Given the description of an element on the screen output the (x, y) to click on. 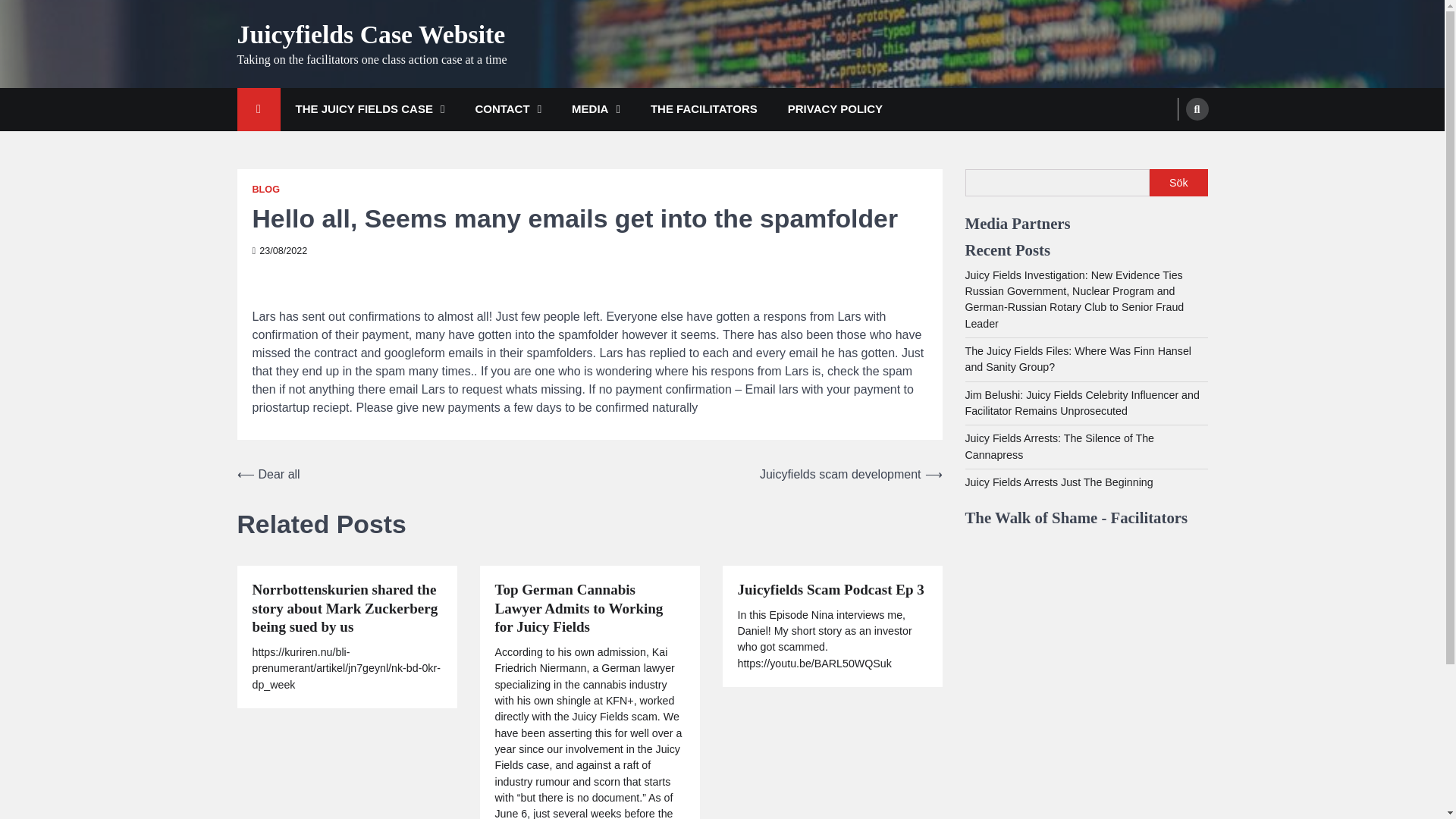
THE JUICY FIELDS CASE (370, 109)
PRIVACY POLICY (835, 109)
MEDIA (595, 109)
Search (1197, 108)
Juicy Fields Arrests: The Silence of The Cannapress (1058, 446)
Juicy Fields Arrests Just The Beginning (1058, 481)
Juicyfields Scam Podcast Ep 3 (829, 589)
BLOG (265, 189)
Juicyfields Case Website (370, 34)
CONTACT (508, 109)
